Given the description of an element on the screen output the (x, y) to click on. 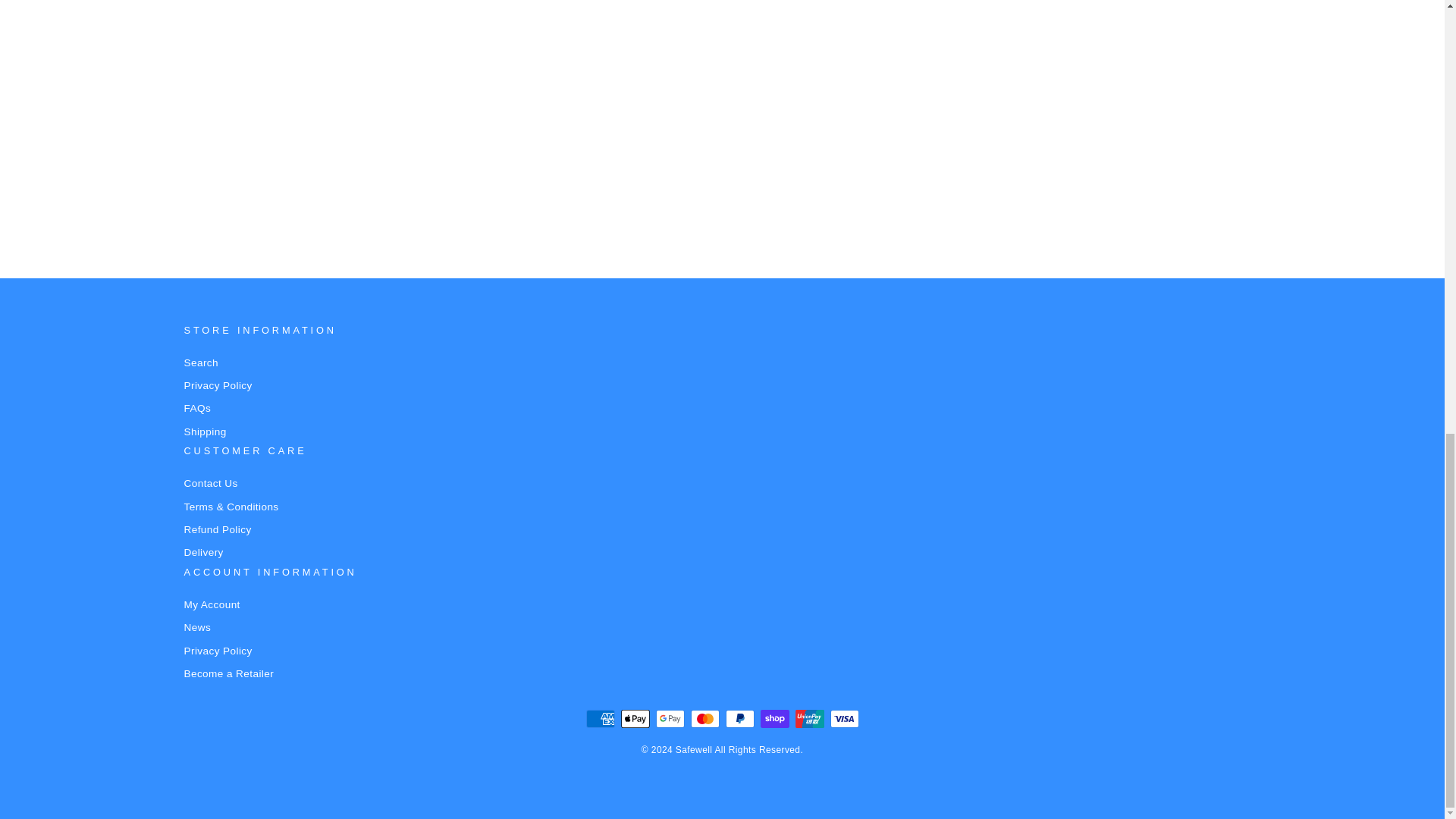
Mastercard (704, 719)
Visa (844, 719)
Apple Pay (634, 719)
Google Pay (669, 719)
Union Pay (809, 719)
American Express (599, 719)
PayPal (739, 719)
Shop Pay (774, 719)
